Given the description of an element on the screen output the (x, y) to click on. 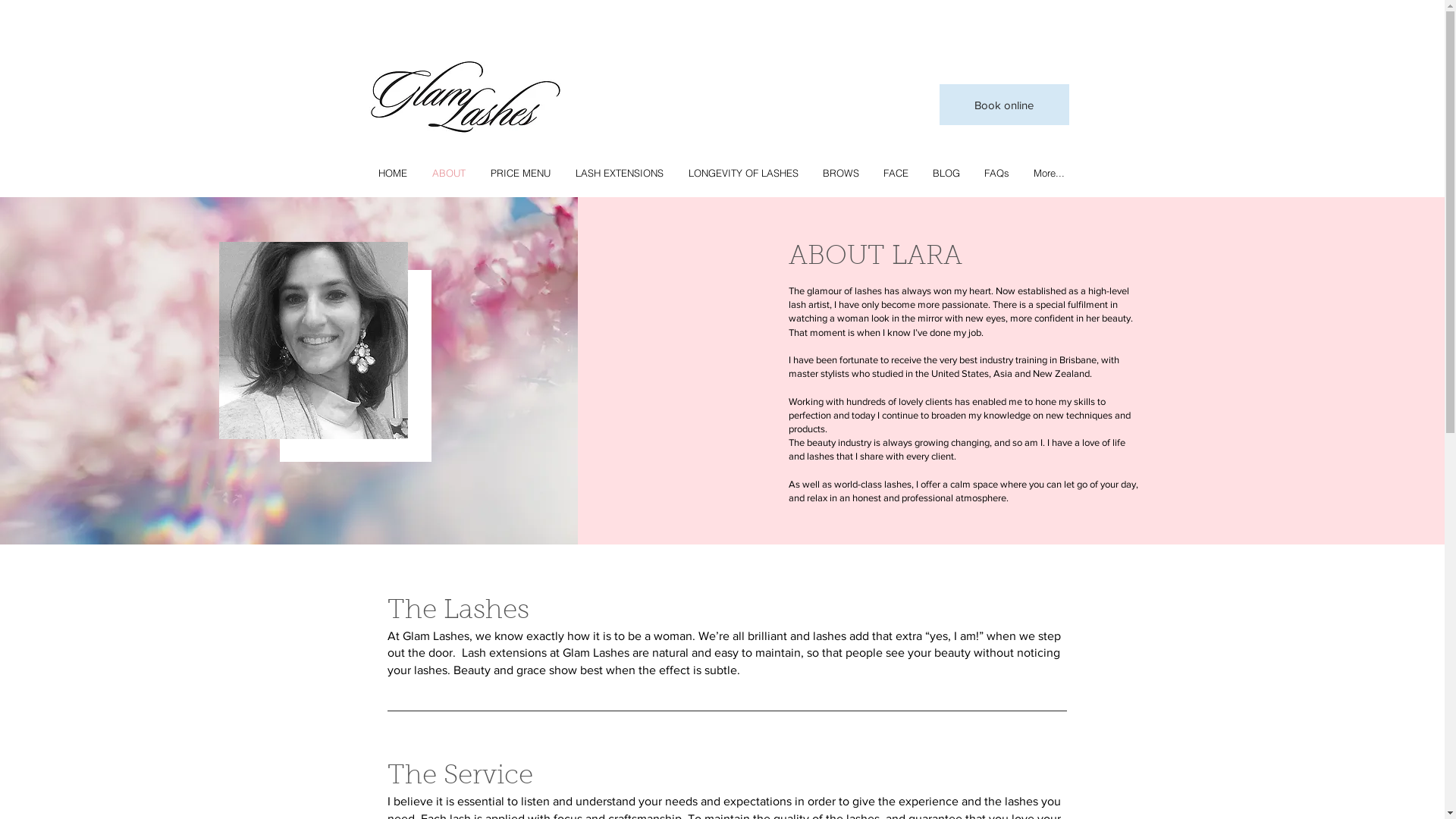
Book online Element type: text (1003, 104)
glam-logo-w.jpg Element type: hover (464, 98)
ABOUT Element type: text (447, 172)
LONGEVITY OF LASHES Element type: text (741, 172)
10653856_1460466080881809_1115198784279962234_n[1].jpg Element type: hover (313, 340)
FACE Element type: text (894, 172)
FAQs Element type: text (996, 172)
PRICE MENU Element type: text (519, 172)
LASH EXTENSIONS Element type: text (618, 172)
HOME Element type: text (391, 172)
BROWS Element type: text (839, 172)
BLOG Element type: text (946, 172)
